Given the description of an element on the screen output the (x, y) to click on. 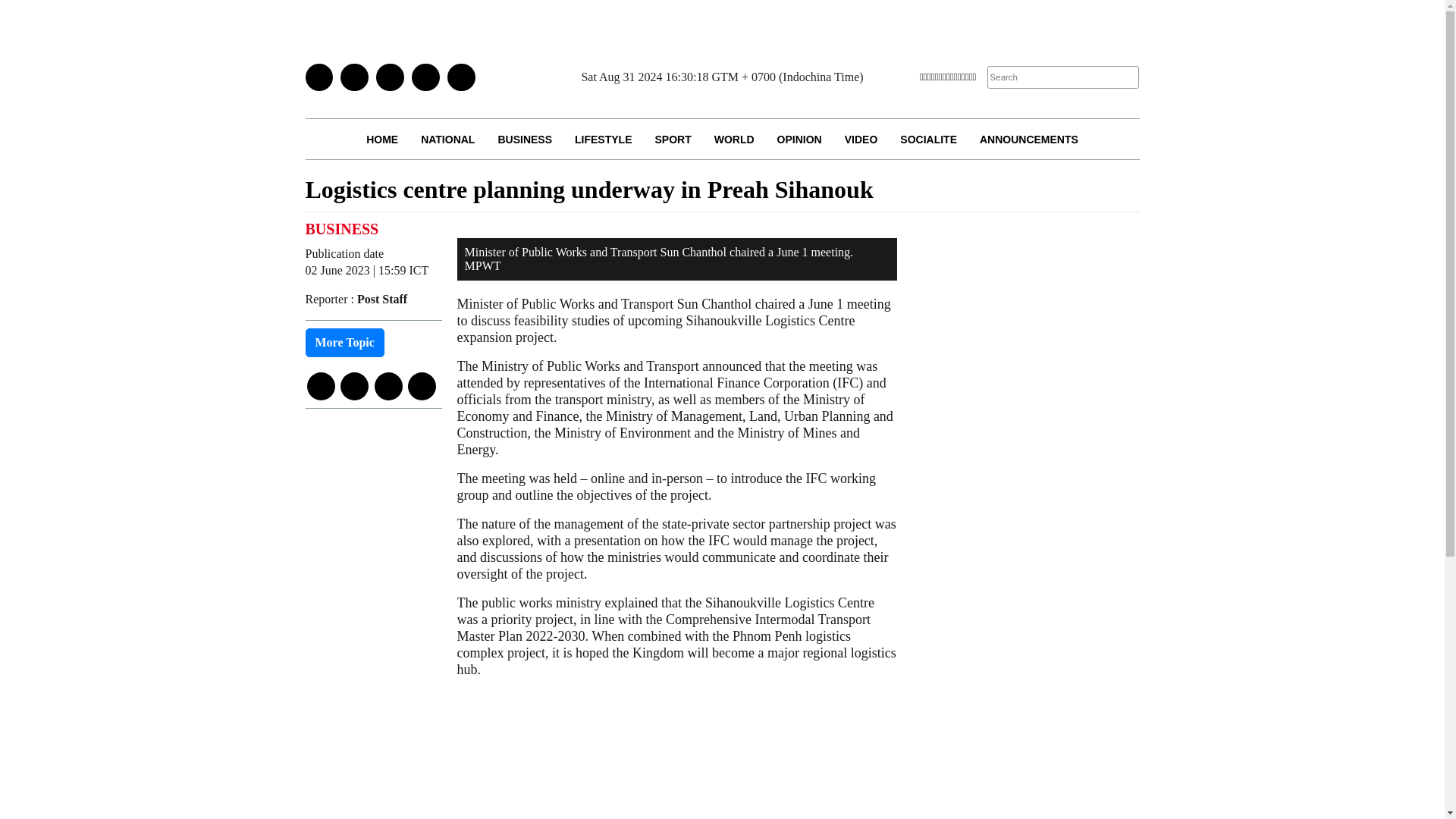
LIFESTYLE (603, 138)
ANNOUNCEMENTS (1028, 138)
OPINION (798, 138)
BUSINESS (524, 138)
More Topic (344, 342)
WORLD (734, 138)
VIDEO (860, 138)
SPORT (672, 138)
HOME (382, 138)
NATIONAL (447, 138)
